Given the description of an element on the screen output the (x, y) to click on. 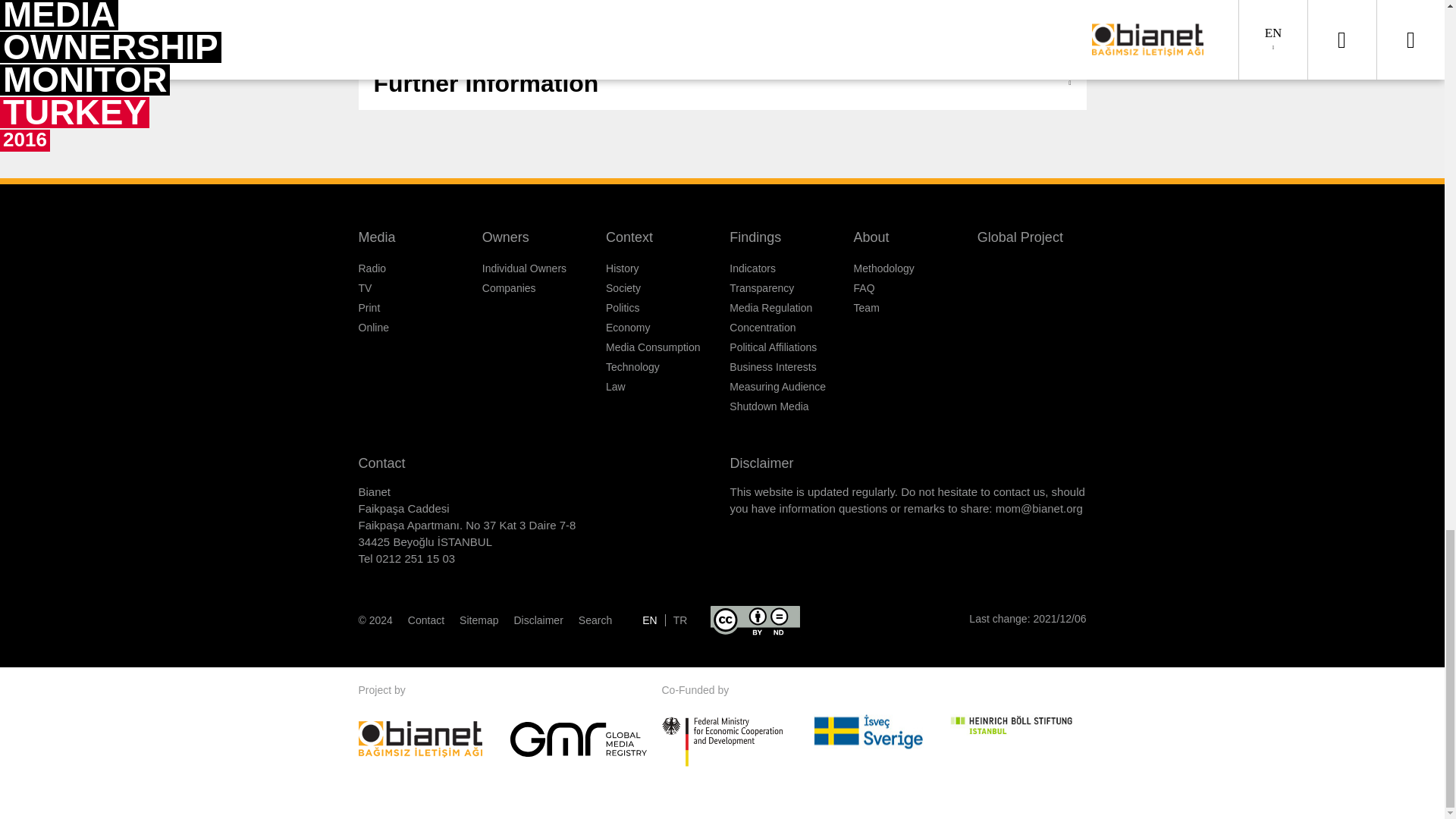
Indicators (752, 268)
Technology (632, 367)
Federal Ministry for Economic Cooperation and Development (721, 740)
TV (364, 287)
Media Regulation (770, 307)
Findings (754, 237)
Companies (508, 287)
Media Consumption (652, 346)
Owners (505, 237)
Bianet (433, 739)
Media (376, 237)
Federal Ministry for Economic Cooperation and Development (736, 739)
History (622, 268)
Transparency (761, 287)
Concentration (761, 327)
